Given the description of an element on the screen output the (x, y) to click on. 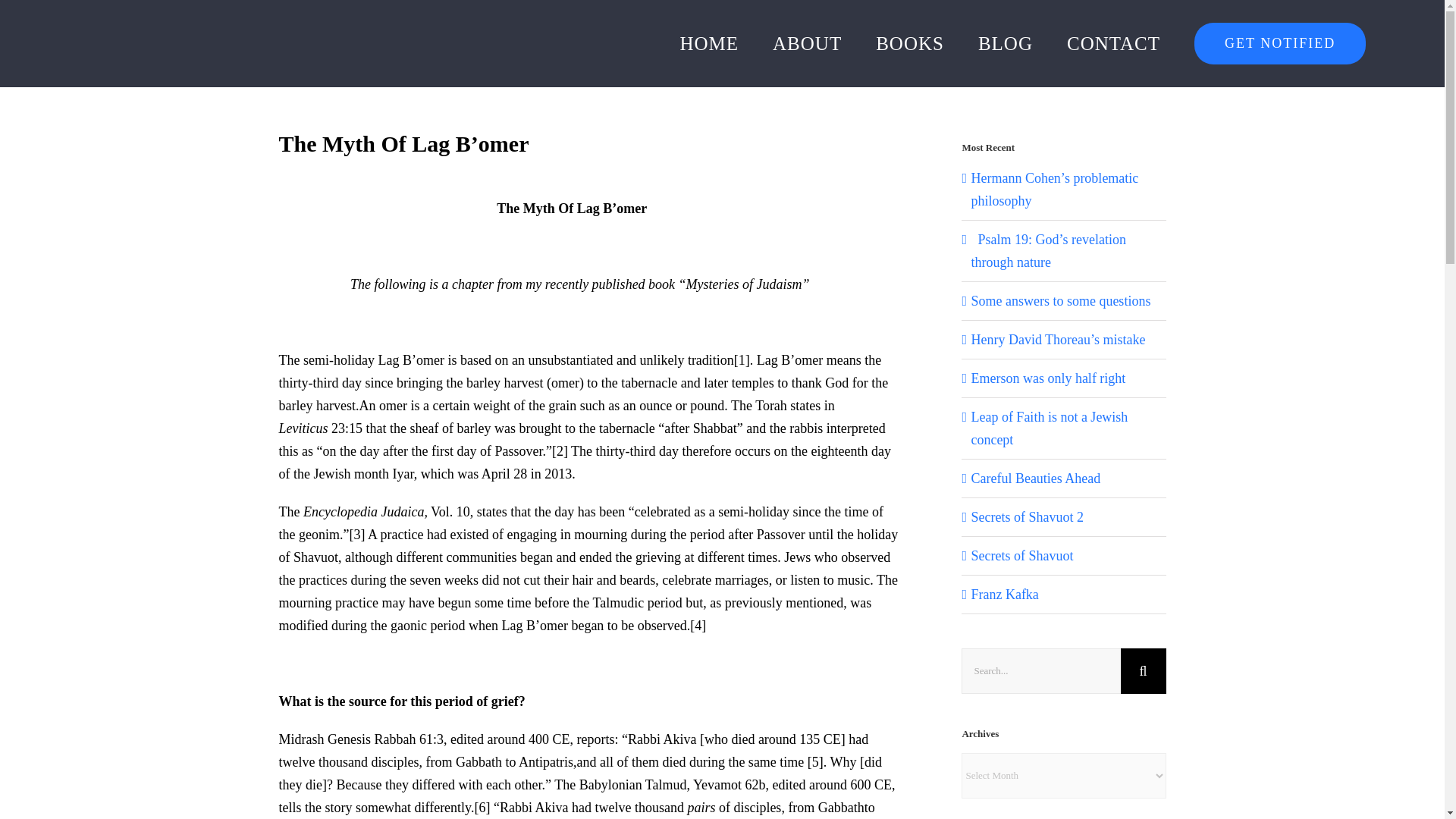
ABOUT (807, 42)
Some answers to some questions (1060, 300)
BLOG (1005, 42)
Emerson was only half right (1048, 378)
HOME (708, 42)
Secrets of Shavuot 2 (1027, 516)
CONTACT (1113, 42)
BOOKS (909, 42)
Leap of Faith is not a Jewish concept (1048, 428)
Secrets of Shavuot (1022, 555)
GET NOTIFIED (1279, 42)
Careful Beauties Ahead (1035, 478)
Franz Kafka (1004, 594)
